Given the description of an element on the screen output the (x, y) to click on. 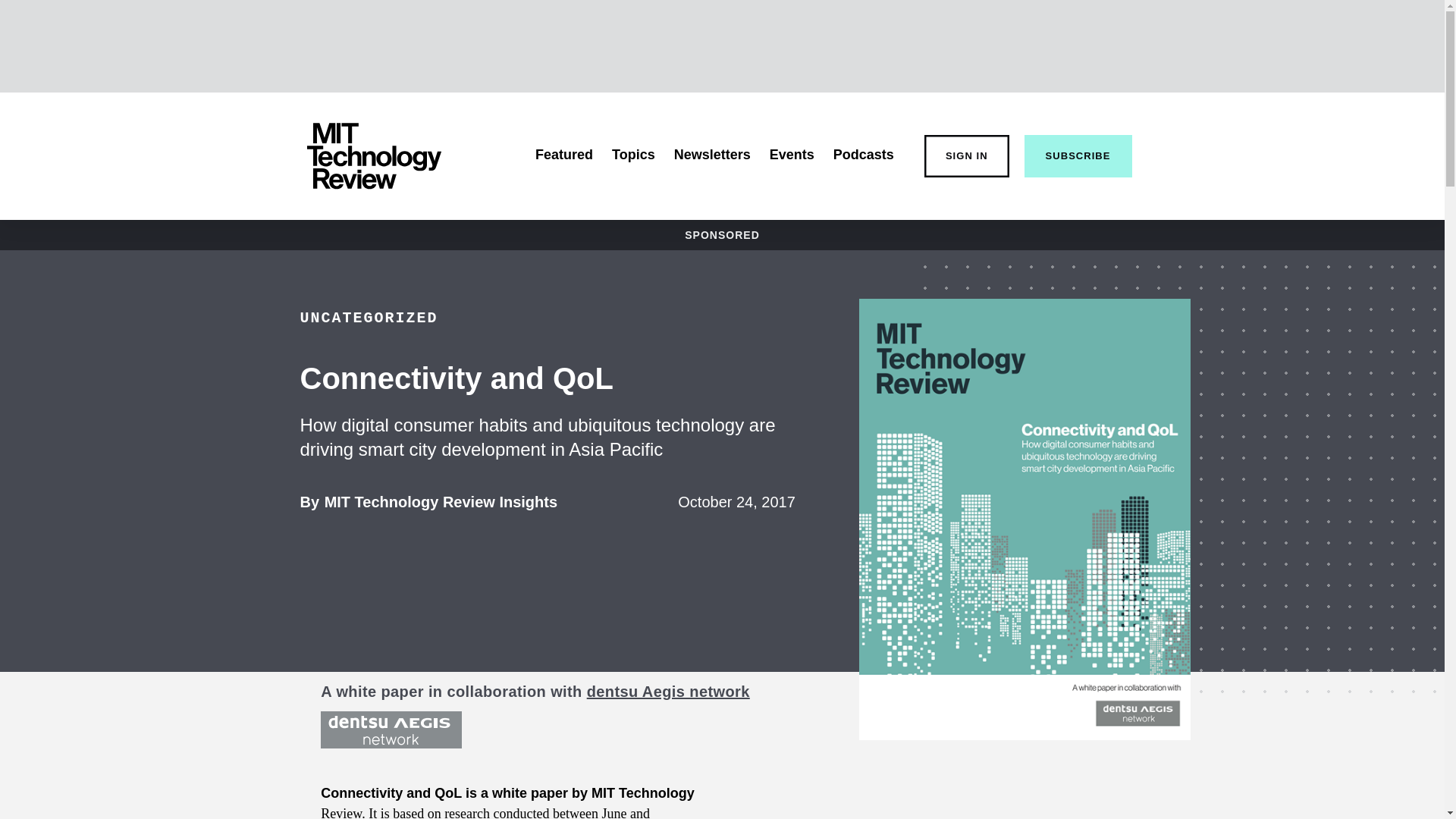
Events (791, 154)
dentsu Aegis network (667, 691)
Featured (563, 154)
SIGN IN (966, 156)
MIT Technology Review (373, 155)
SUBSCRIBE (1078, 156)
UNCATEGORIZED (368, 317)
Newsletters (440, 501)
Podcasts (712, 154)
